Given the description of an element on the screen output the (x, y) to click on. 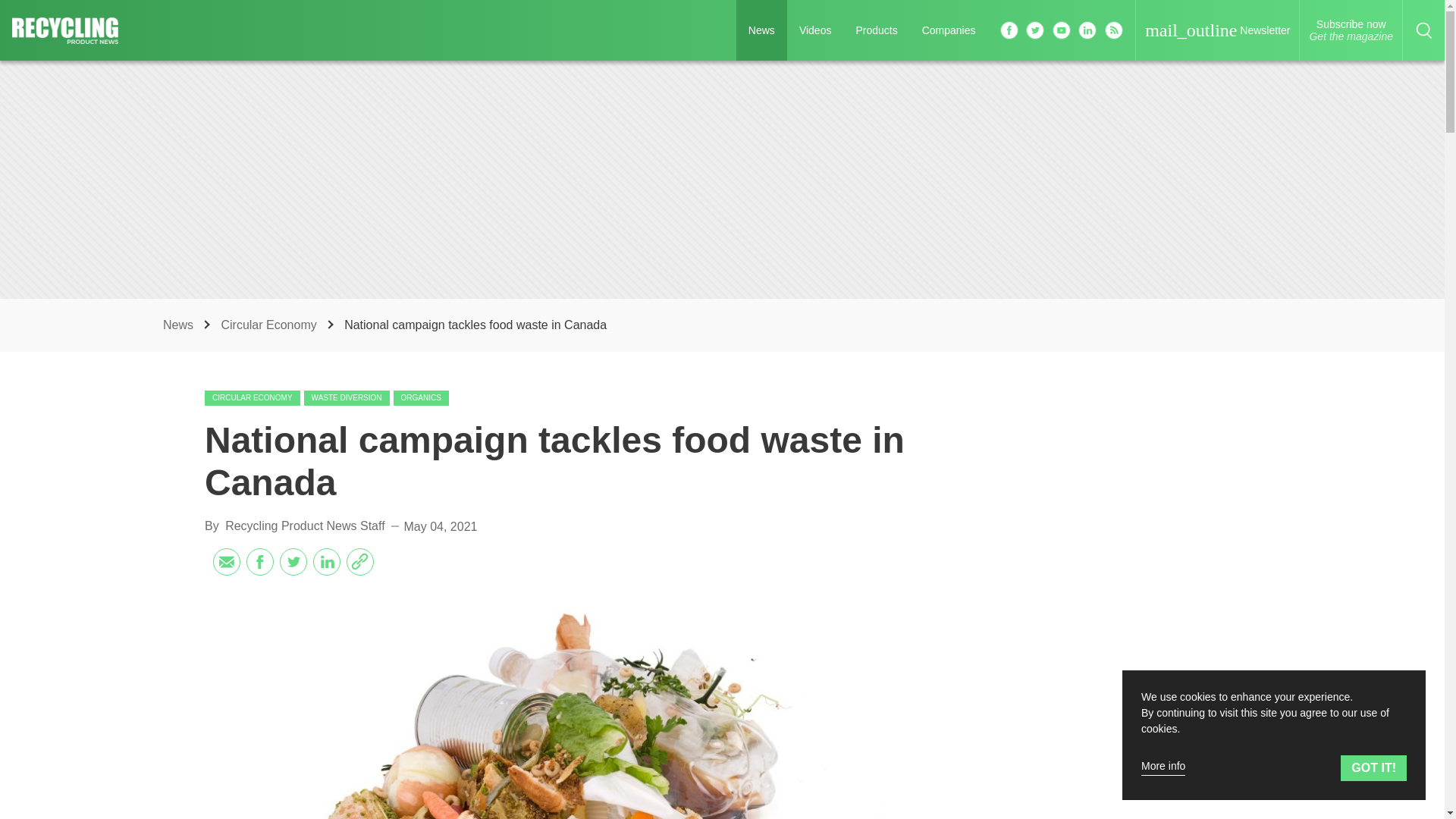
Circular Economy (270, 324)
Products (875, 30)
Videos (815, 30)
CIRCULAR ECONOMY (252, 397)
News (179, 324)
Companies (949, 30)
WASTE DIVERSION (347, 397)
ORGANICS (420, 397)
Recycling Product News Staff (304, 525)
